Given the description of an element on the screen output the (x, y) to click on. 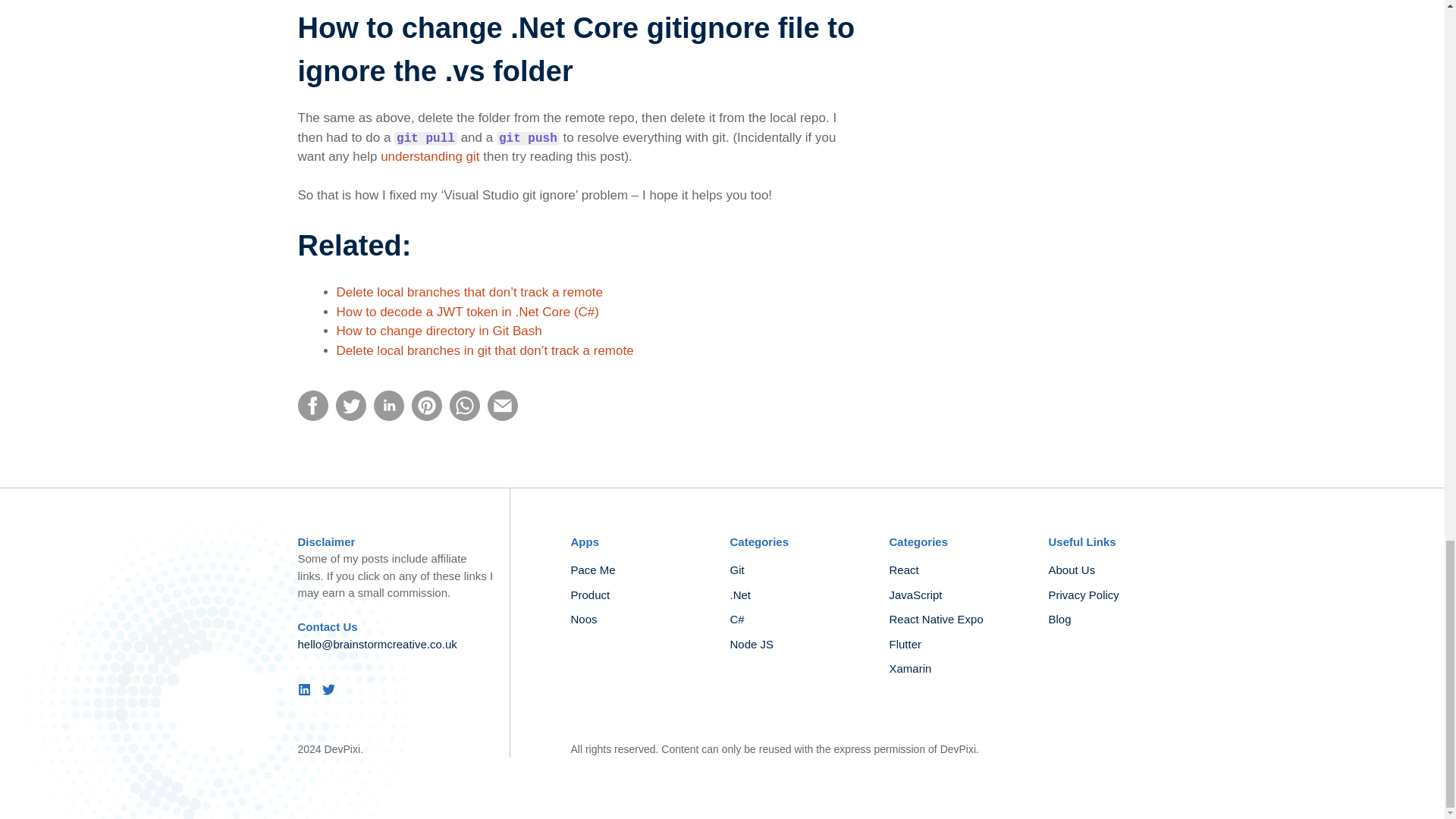
Tweet this post! (349, 416)
Pin this post! (425, 416)
Share this post! (387, 416)
Share this post! (463, 416)
Email this post! (501, 416)
Share this post! (312, 416)
